Given the description of an element on the screen output the (x, y) to click on. 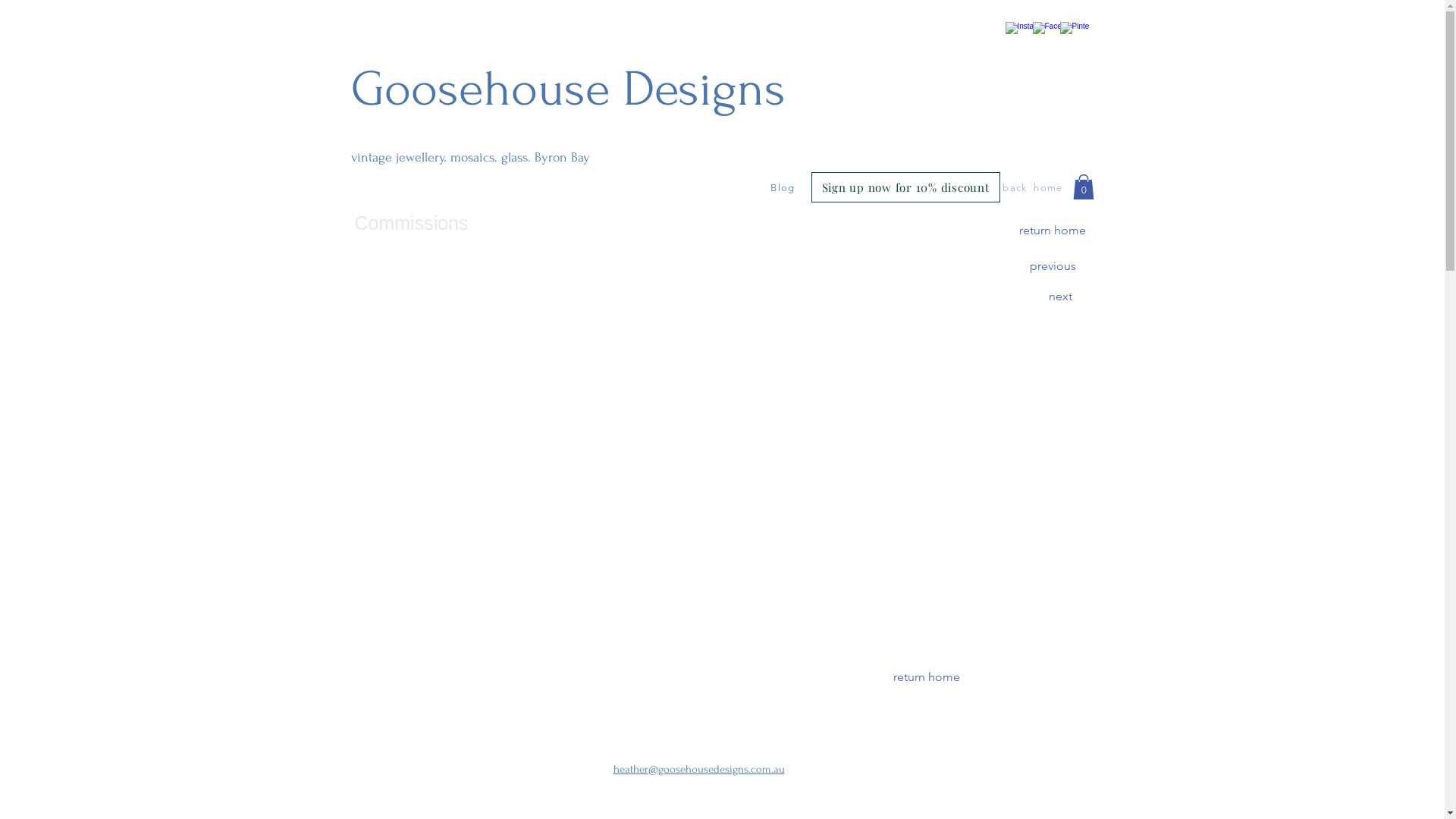
home Element type: text (1049, 187)
return home Element type: text (926, 676)
return home Element type: text (1052, 230)
0 Element type: text (1082, 186)
Blog Element type: text (784, 187)
heather@goosehousedesigns.com.au Element type: text (698, 768)
Goosehouse Designs Element type: text (567, 89)
Sign up now for 10% discount Element type: text (905, 187)
next Element type: text (1059, 296)
previous Element type: text (1052, 266)
back Element type: text (1015, 187)
